Given the description of an element on the screen output the (x, y) to click on. 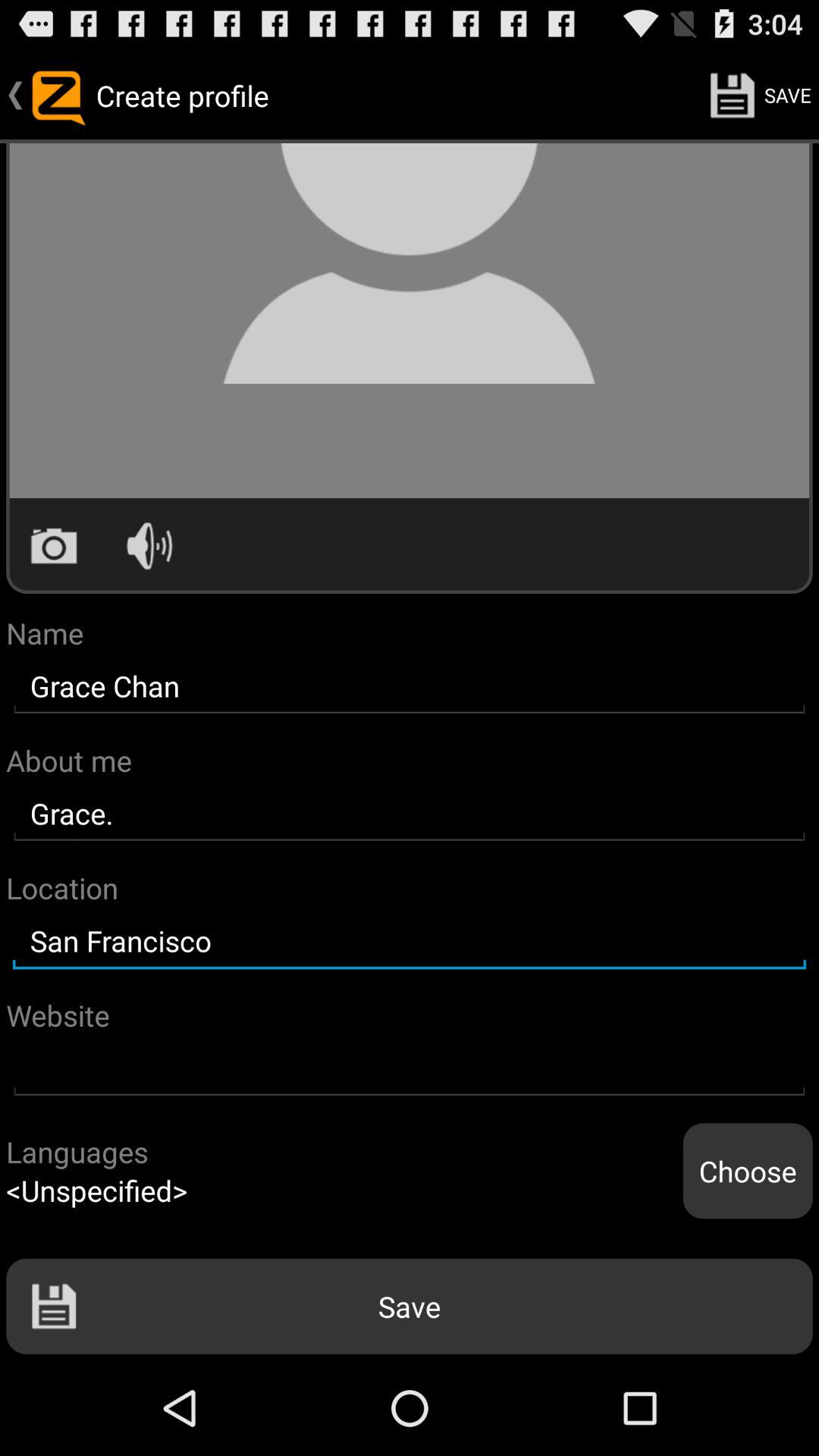
go do website (409, 1068)
